Given the description of an element on the screen output the (x, y) to click on. 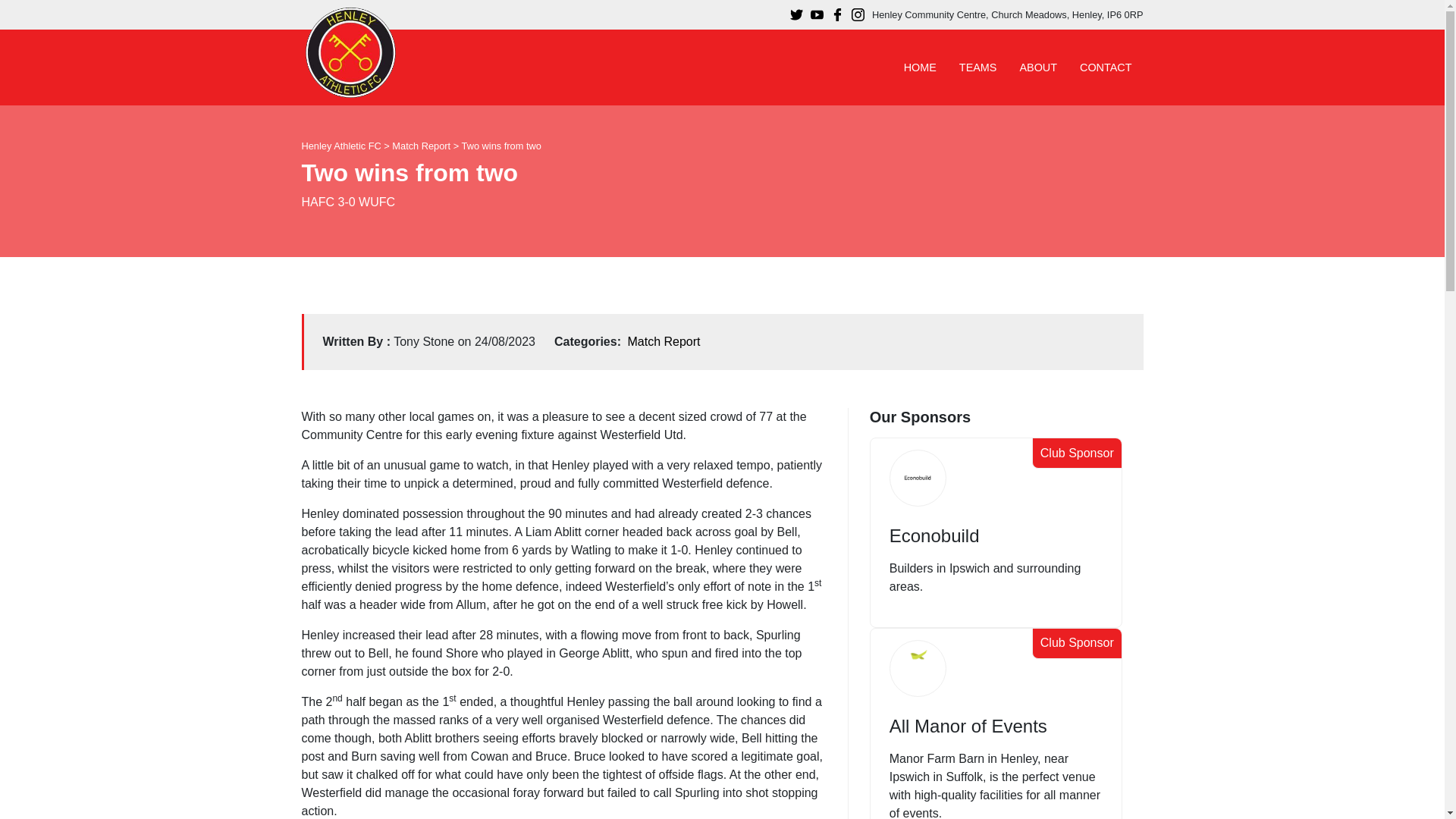
Match Report (420, 145)
HOME (919, 67)
ABOUT (1037, 67)
Go to Henley Athletic FC. (341, 145)
CONTACT (1105, 67)
Go to the Match Report Category archives. (420, 145)
Henley Athletic FC (341, 145)
Match Report (663, 341)
TEAMS (978, 67)
